Given the description of an element on the screen output the (x, y) to click on. 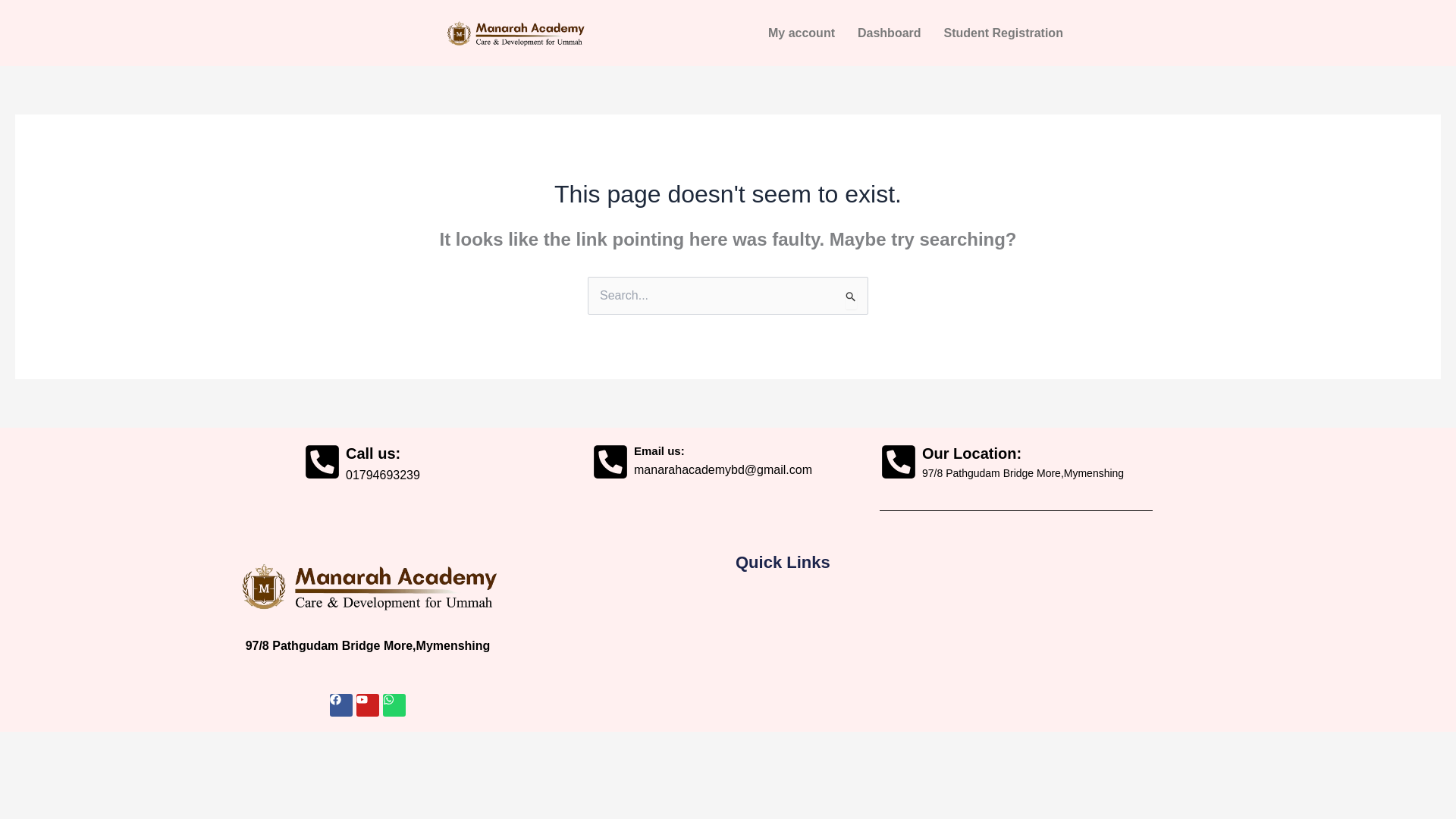
Student Registration (1003, 32)
Dashboard (889, 32)
Facebook (341, 704)
Youtube (367, 704)
My account (801, 32)
Whatsapp (394, 704)
